Given the description of an element on the screen output the (x, y) to click on. 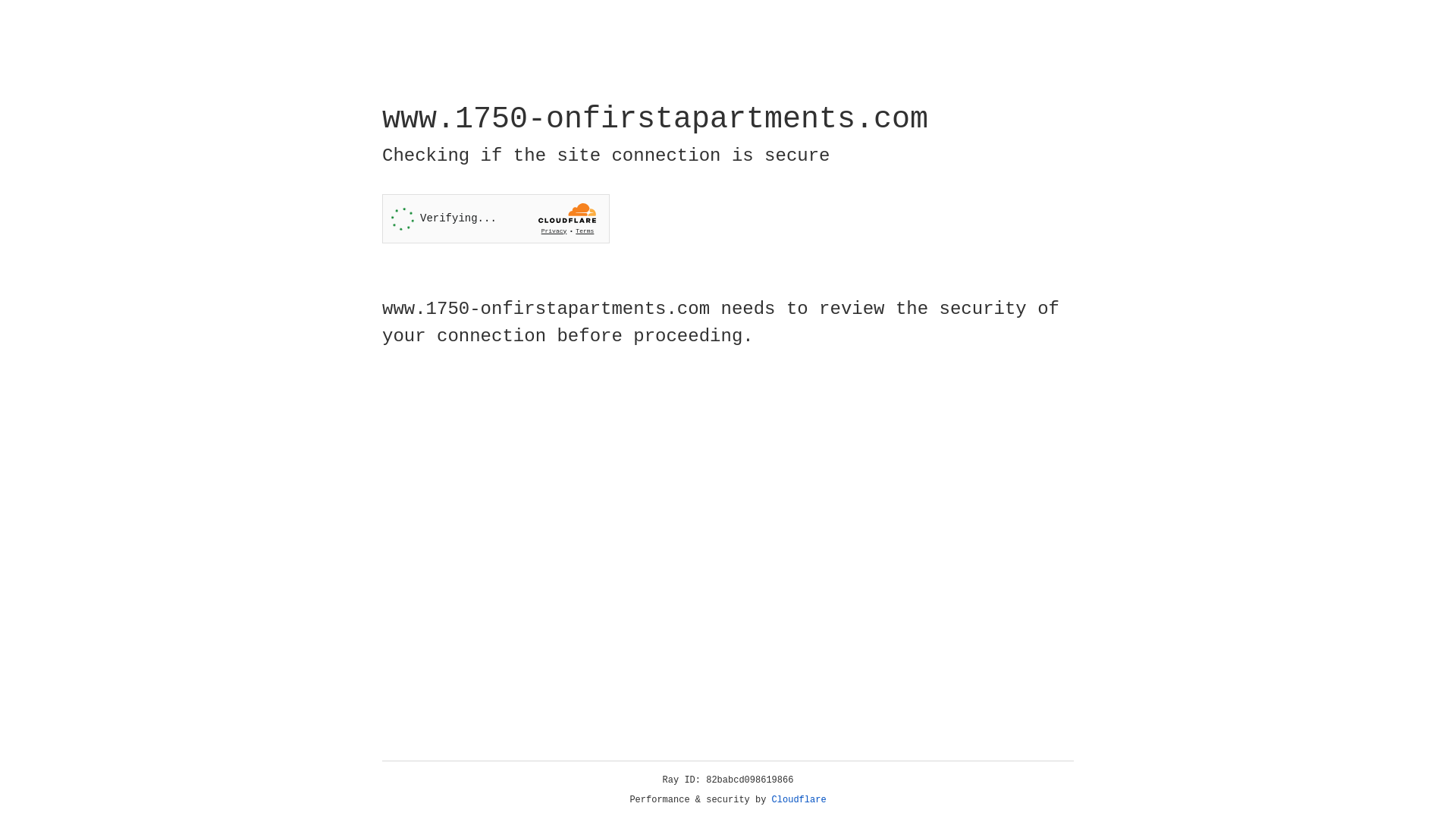
Widget containing a Cloudflare security challenge Element type: hover (495, 218)
Cloudflare Element type: text (798, 799)
